Given the description of an element on the screen output the (x, y) to click on. 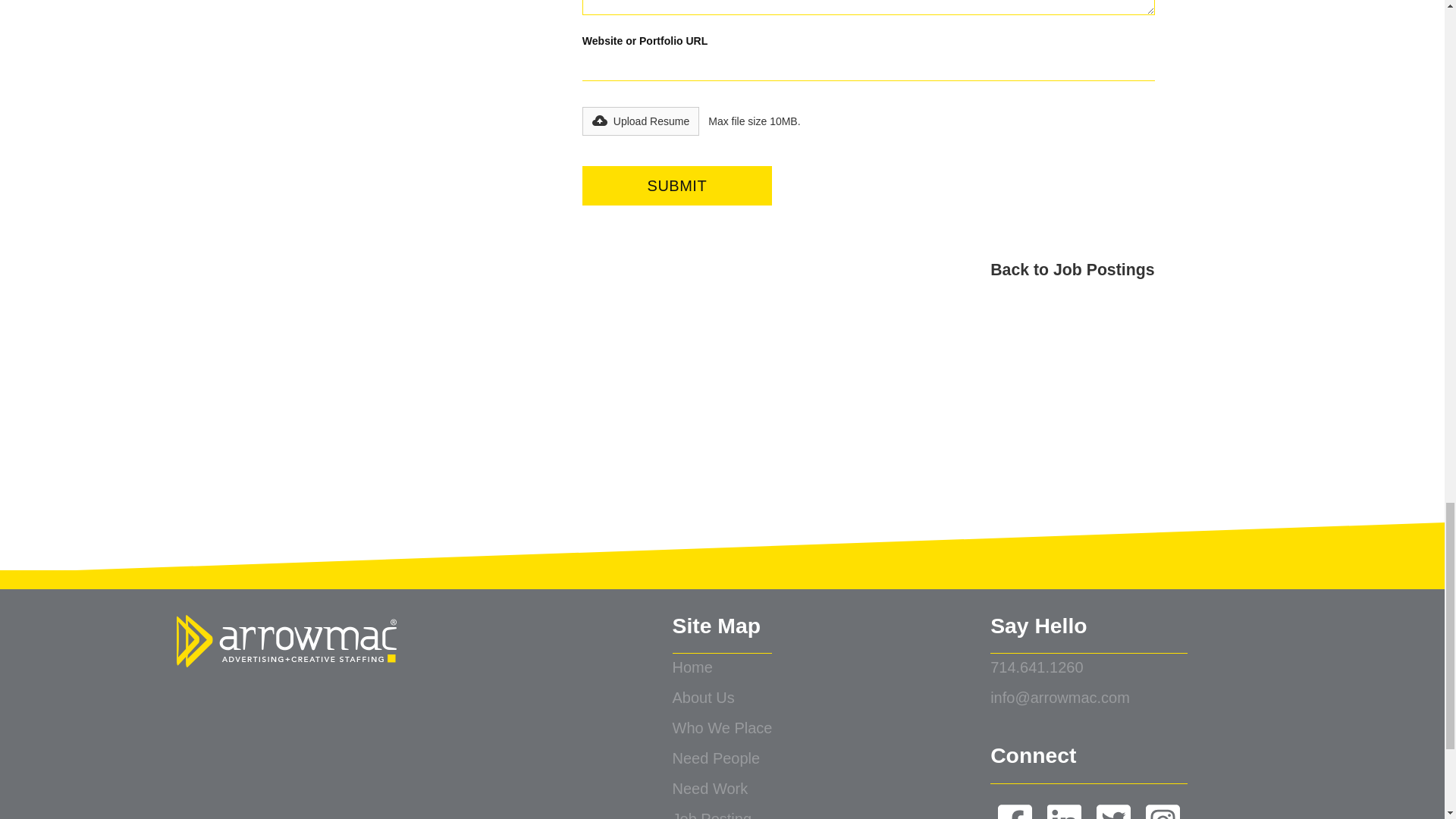
714.641.1260 (1089, 668)
Back to Job Postings (721, 270)
Need Work (722, 789)
Submit (676, 185)
Submit (676, 185)
About Us (722, 698)
Who We Place (722, 729)
Need People (722, 759)
Job Posting (722, 812)
Home (722, 668)
